Given the description of an element on the screen output the (x, y) to click on. 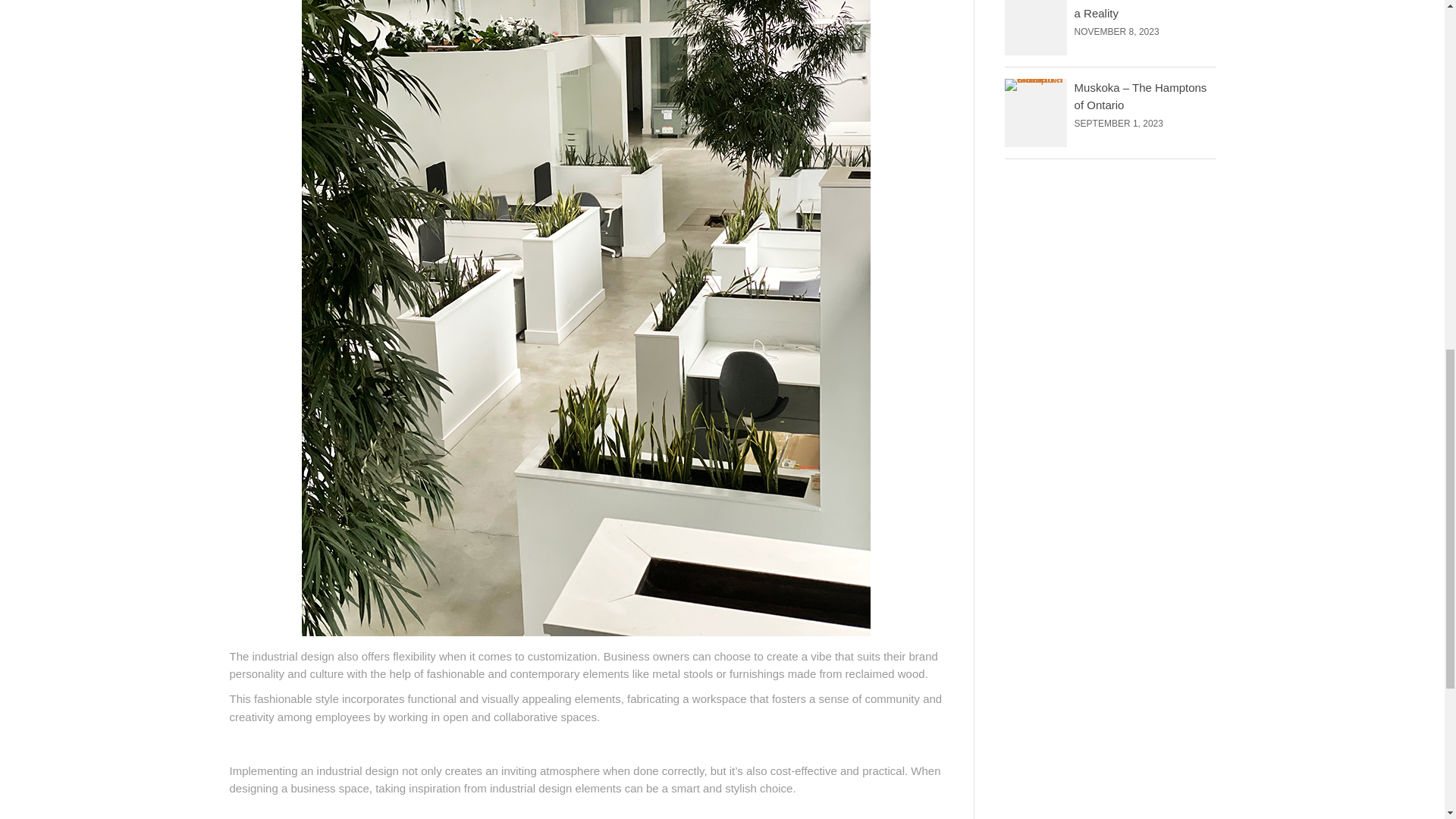
Make Your Dream Kitchen a Reality (1140, 9)
